Given the description of an element on the screen output the (x, y) to click on. 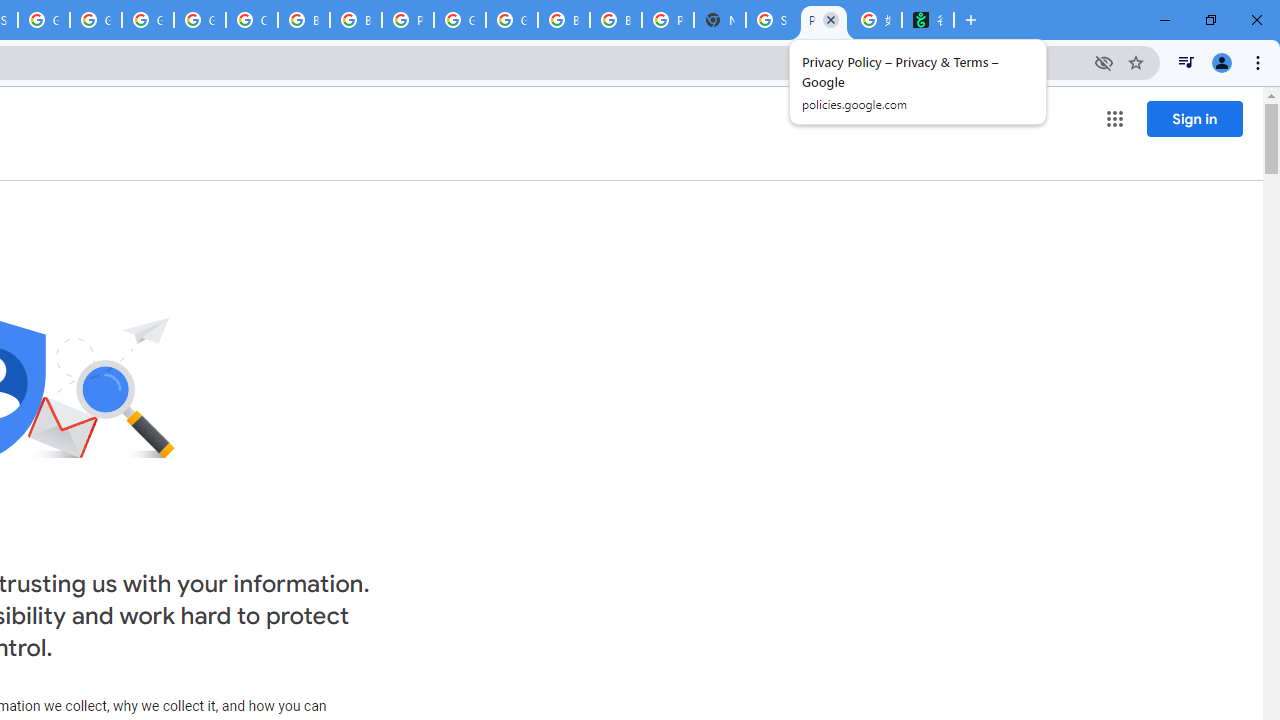
Google Cloud Platform (459, 20)
Google Cloud Platform (147, 20)
